Given the description of an element on the screen output the (x, y) to click on. 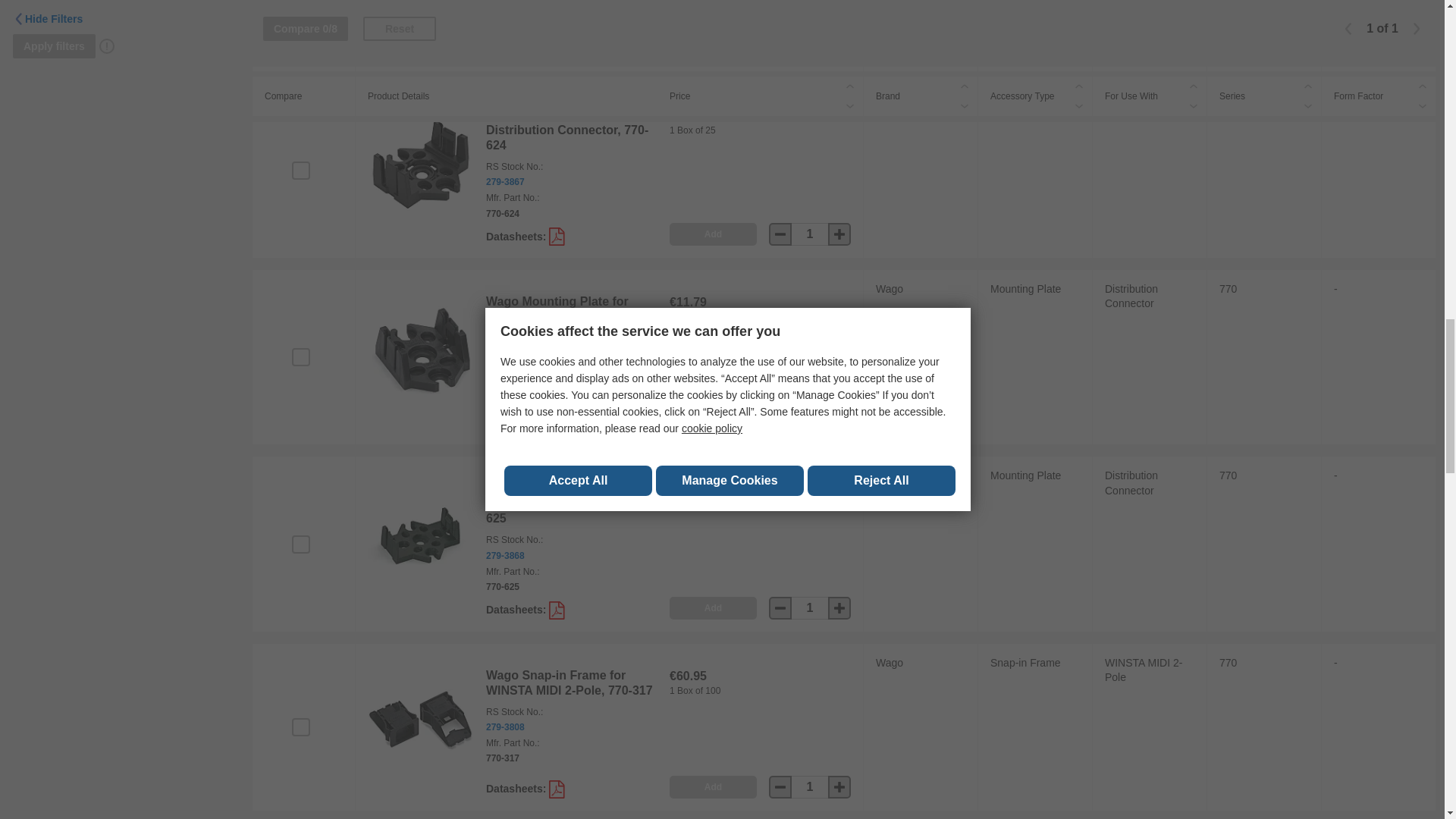
1 (810, 233)
on (299, 357)
1 (810, 47)
on (299, 170)
on (299, 544)
1 (810, 420)
